Given the description of an element on the screen output the (x, y) to click on. 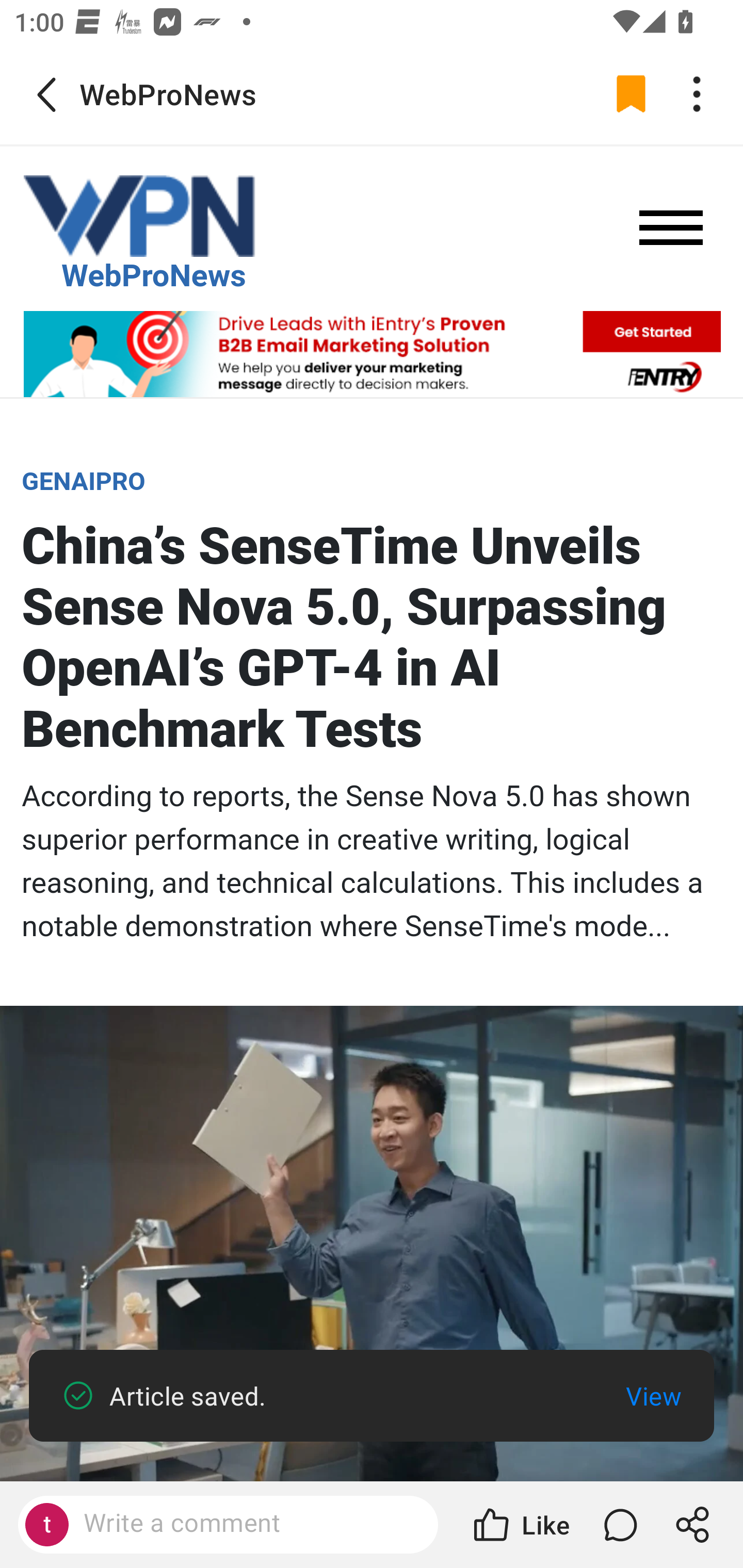
cc?z=ientry (371, 352)
GENAIPRO (83, 481)
View (653, 1395)
Like (519, 1524)
Write a comment (245, 1523)
